Given the description of an element on the screen output the (x, y) to click on. 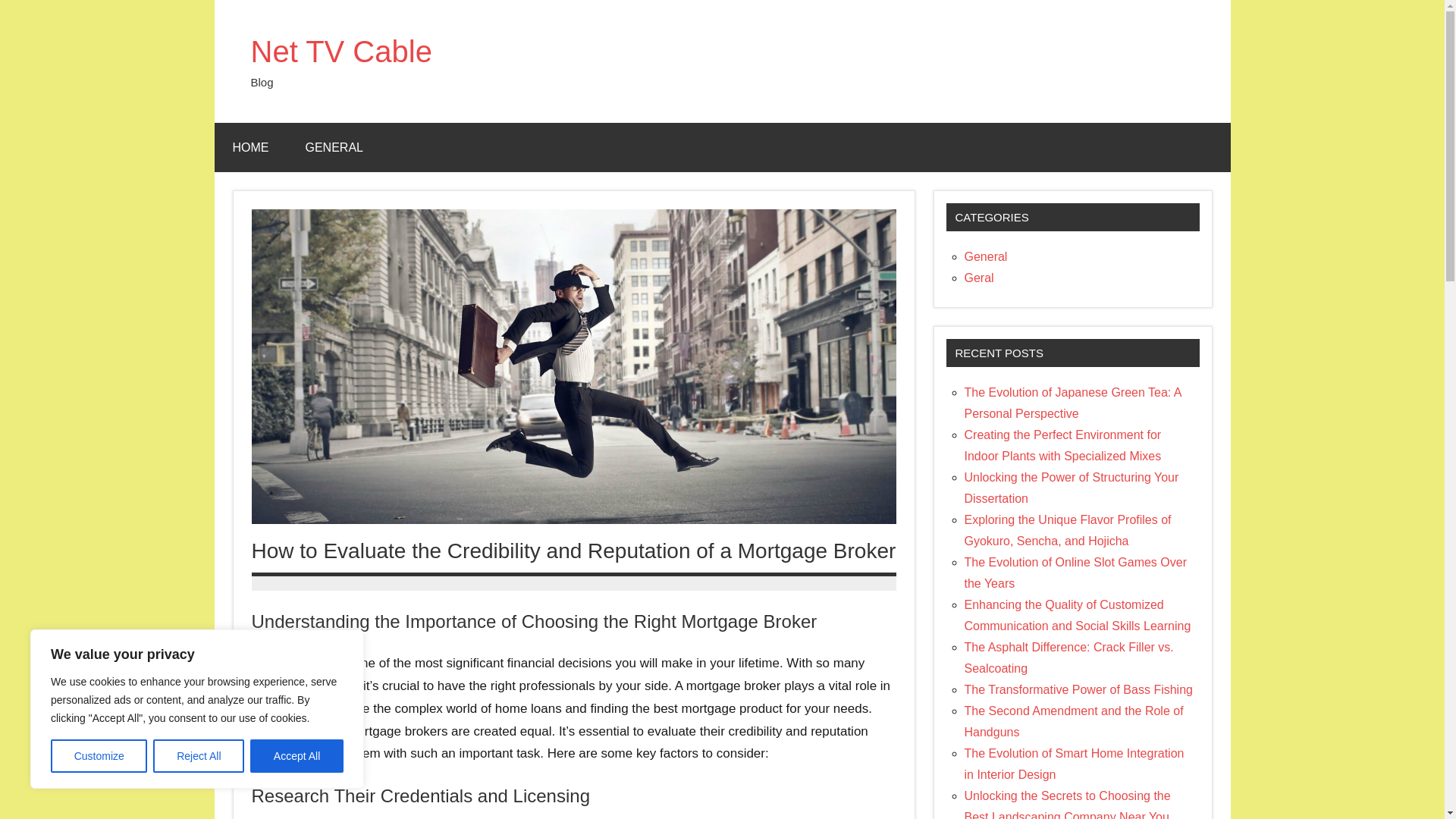
GENERAL (333, 146)
The Evolution of Online Slot Games Over the Years (1074, 572)
Geral (978, 277)
General (985, 256)
Reject All (198, 756)
Accept All (296, 756)
Net TV Cable (340, 51)
Unlocking the Power of Structuring Your Dissertation (1071, 487)
